Given the description of an element on the screen output the (x, y) to click on. 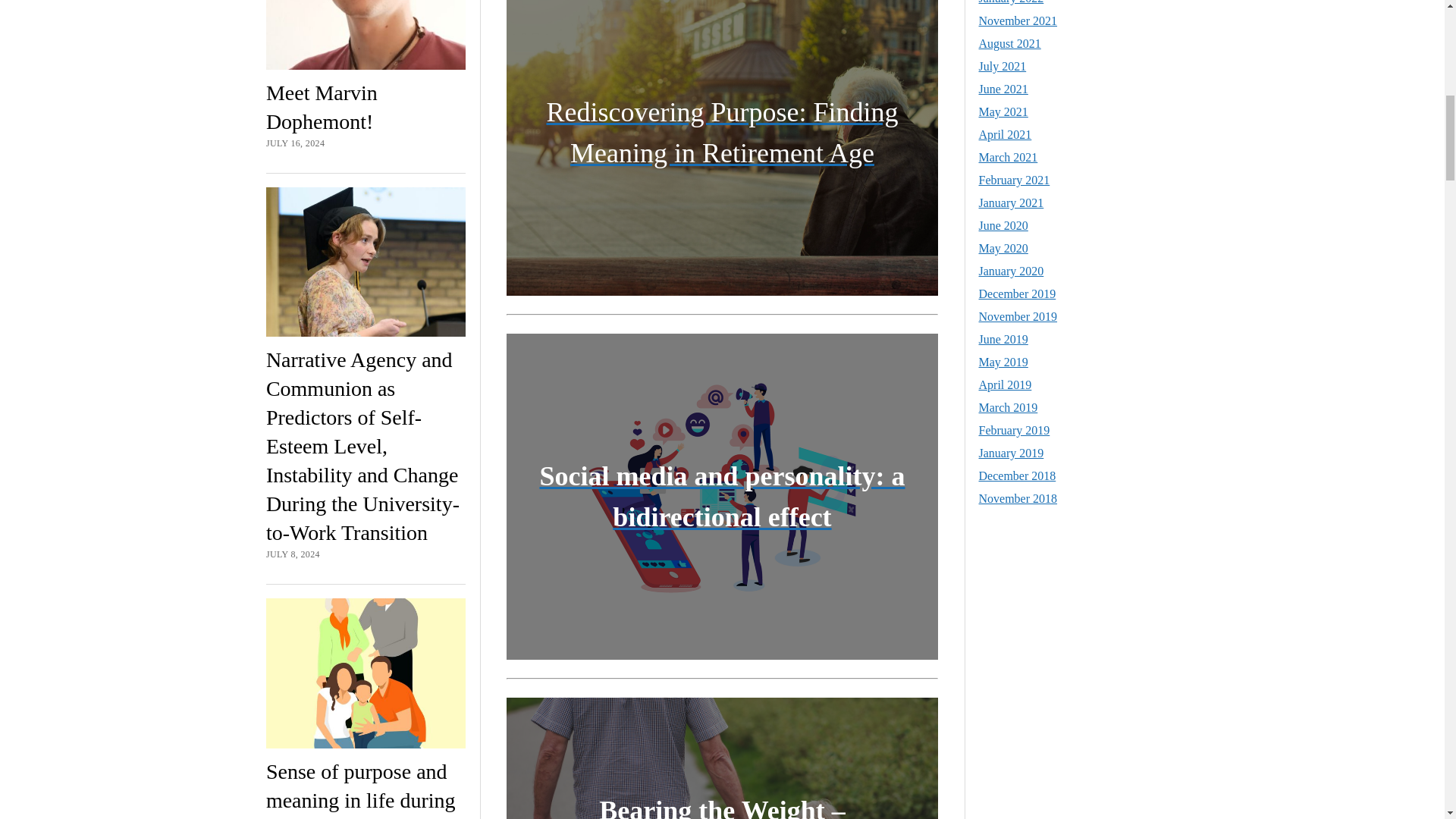
Meet Marvin Dophemont! (321, 107)
Social media and personality: a bidirectional effect (721, 496)
Rediscovering Purpose: Finding Meaning in Retirement Age (722, 132)
